Given the description of an element on the screen output the (x, y) to click on. 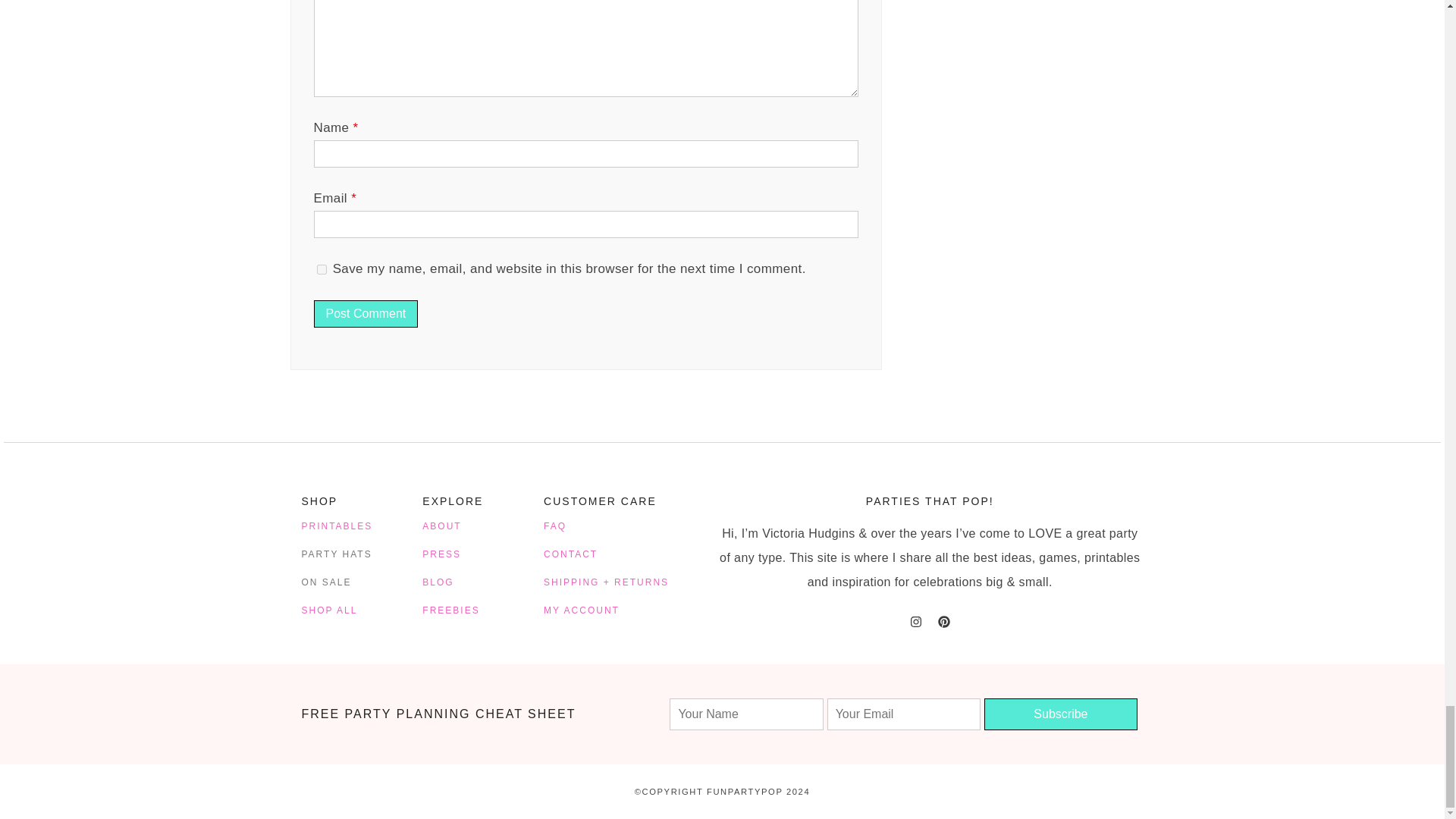
Subscribe (1060, 714)
yes (321, 269)
Post Comment (366, 313)
